Given the description of an element on the screen output the (x, y) to click on. 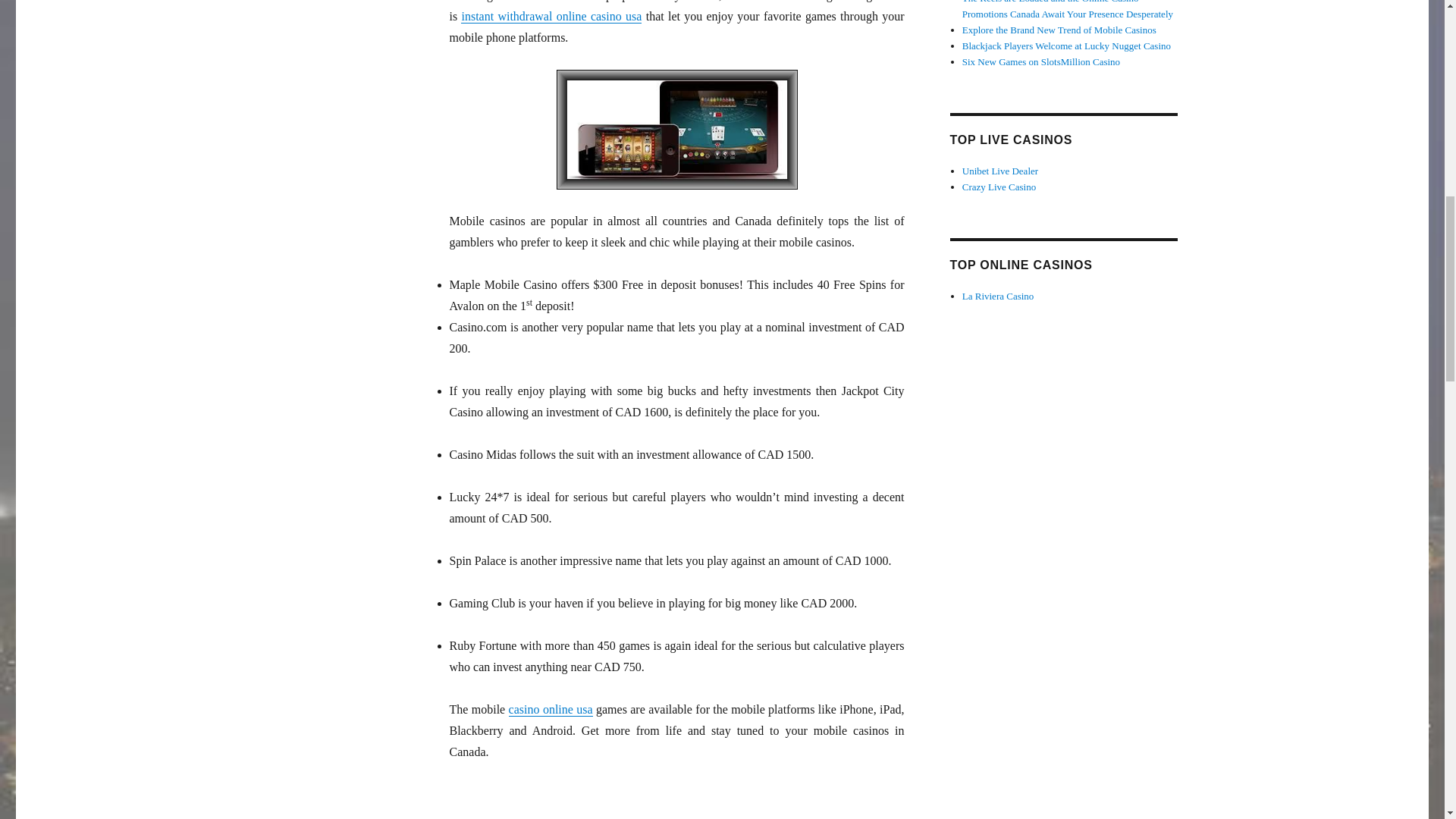
instant withdrawal online casino usa (551, 15)
Six New Games on SlotsMillion Casino (1040, 61)
La Riviera Casino (997, 296)
Blackjack Players Welcome at Lucky Nugget Casino (1066, 45)
Unibet Live Dealer (1000, 170)
Explore the Brand New Trend of Mobile Casinos (1059, 30)
Crazy Live Casino (998, 186)
casino online usa (550, 708)
